Given the description of an element on the screen output the (x, y) to click on. 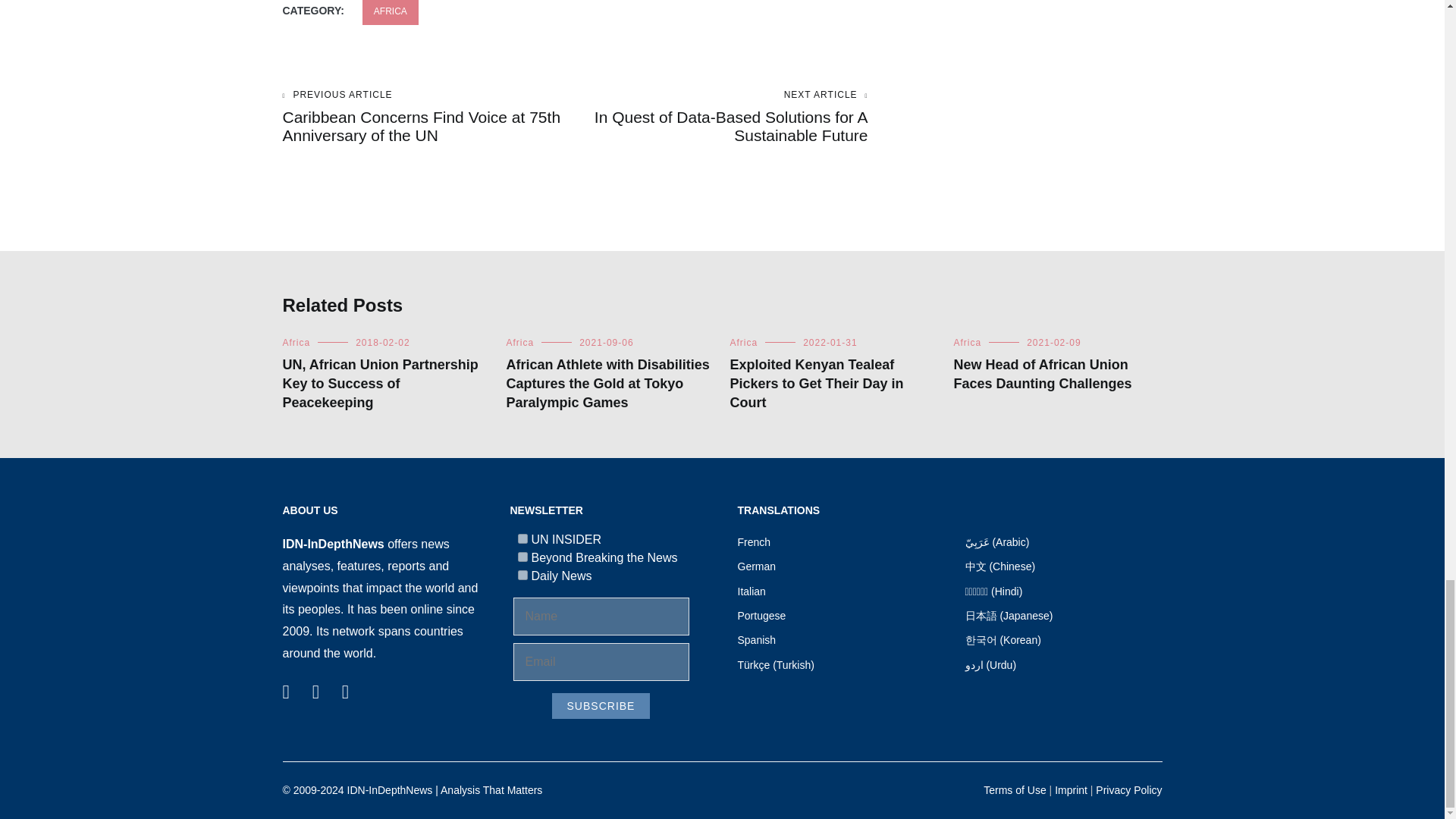
7 (521, 538)
9 (521, 556)
10 (521, 574)
